Given the description of an element on the screen output the (x, y) to click on. 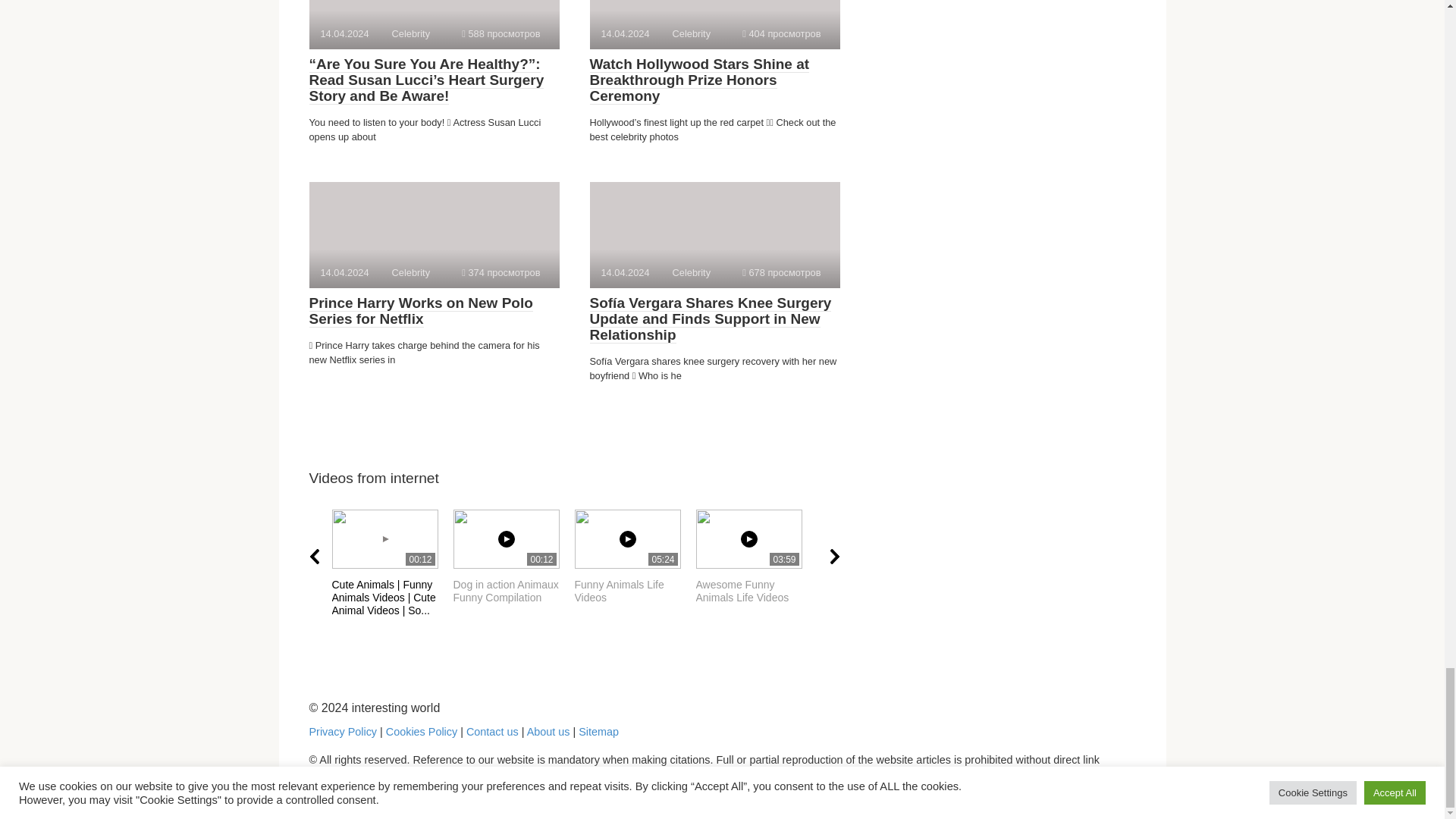
Views (500, 33)
Views (513, 556)
Privacy Policy (755, 556)
Views (781, 33)
Cookies Policy (342, 731)
About us (635, 556)
